Given the description of an element on the screen output the (x, y) to click on. 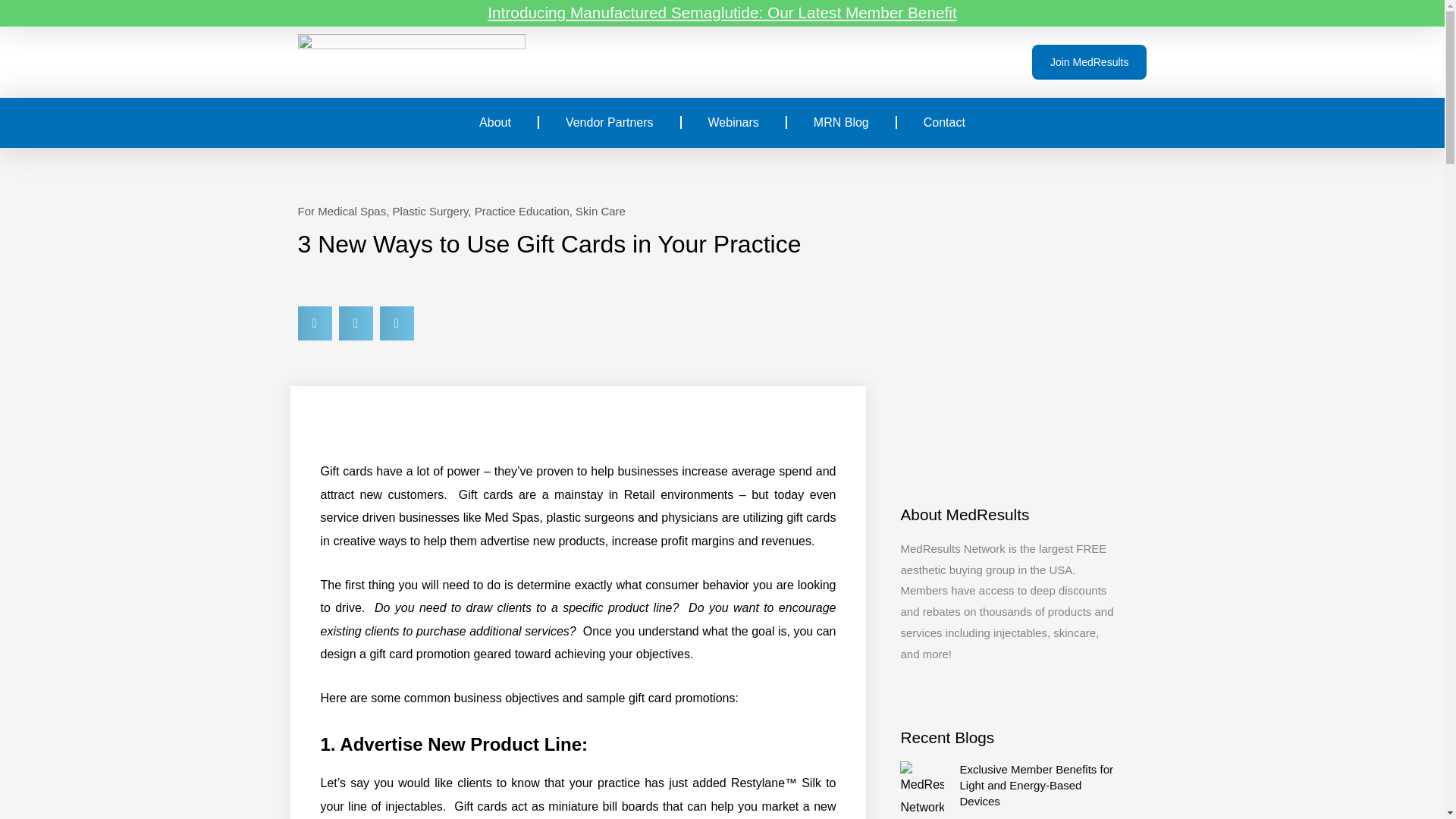
For Medical Spas (341, 210)
Skin Care (600, 210)
Plastic Surgery (430, 210)
Webinars (733, 122)
Practice Education (521, 210)
Join MedResults (1089, 62)
Exclusive Member Benefits for Light and Energy-Based Devices (1036, 784)
Vendor Partners (609, 122)
Contact (943, 122)
